Given the description of an element on the screen output the (x, y) to click on. 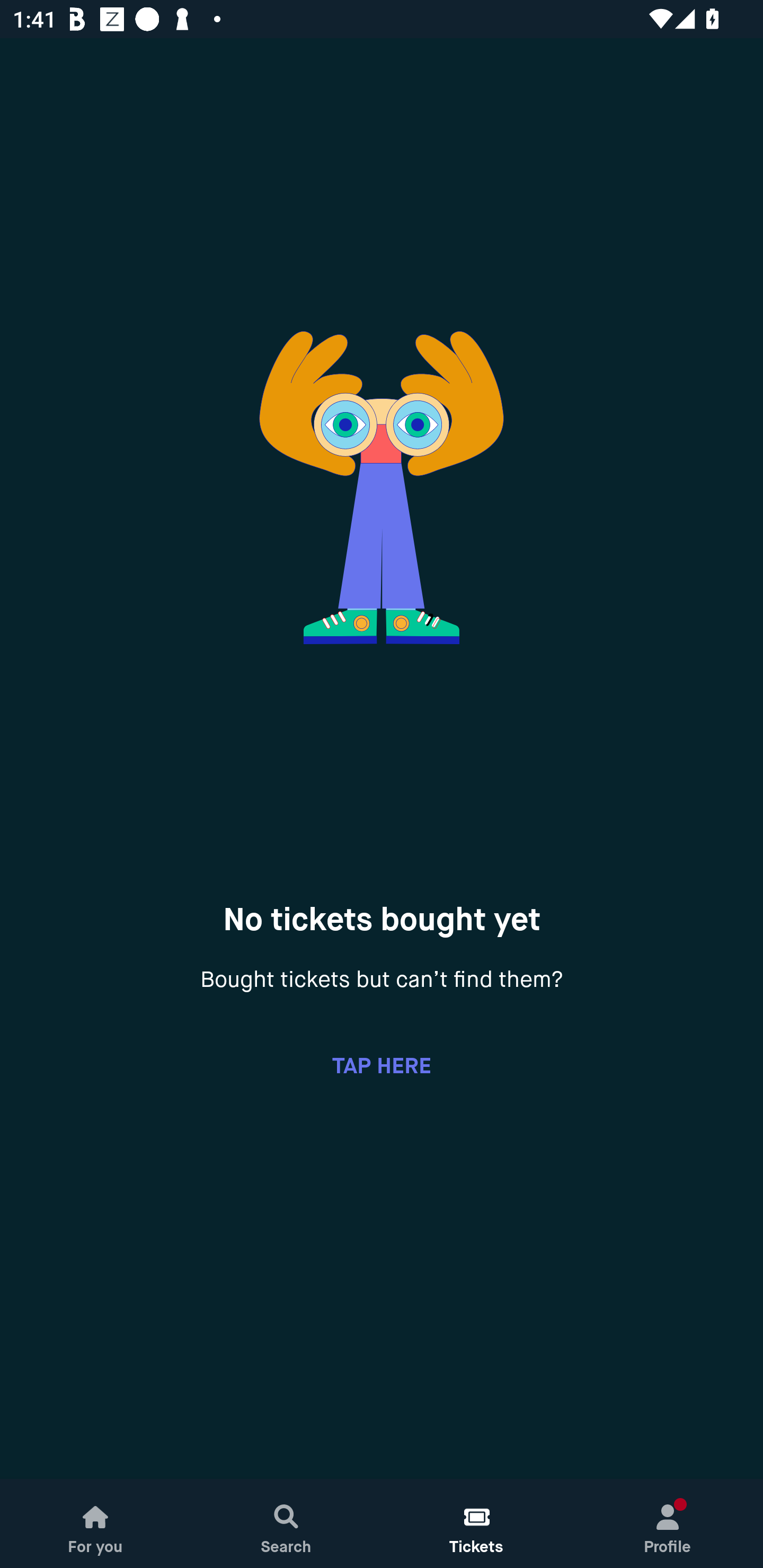
TAP HERE (381, 1065)
For you (95, 1523)
Search (285, 1523)
Profile, New notification Profile (667, 1523)
